Given the description of an element on the screen output the (x, y) to click on. 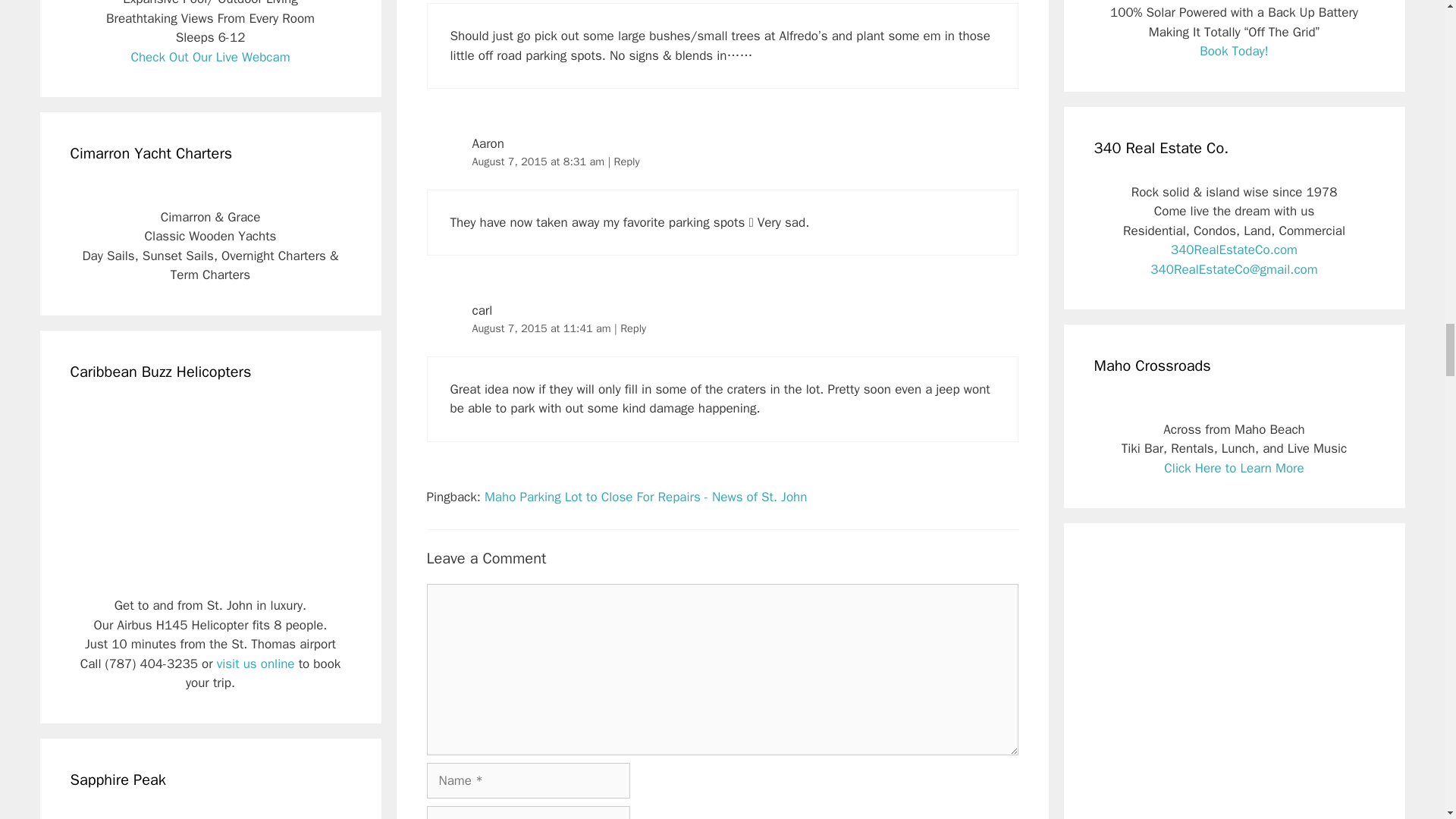
August 7, 2015 at 8:31 am (539, 161)
Reply (625, 161)
August 7, 2015 at 11:41 am (542, 327)
